Given the description of an element on the screen output the (x, y) to click on. 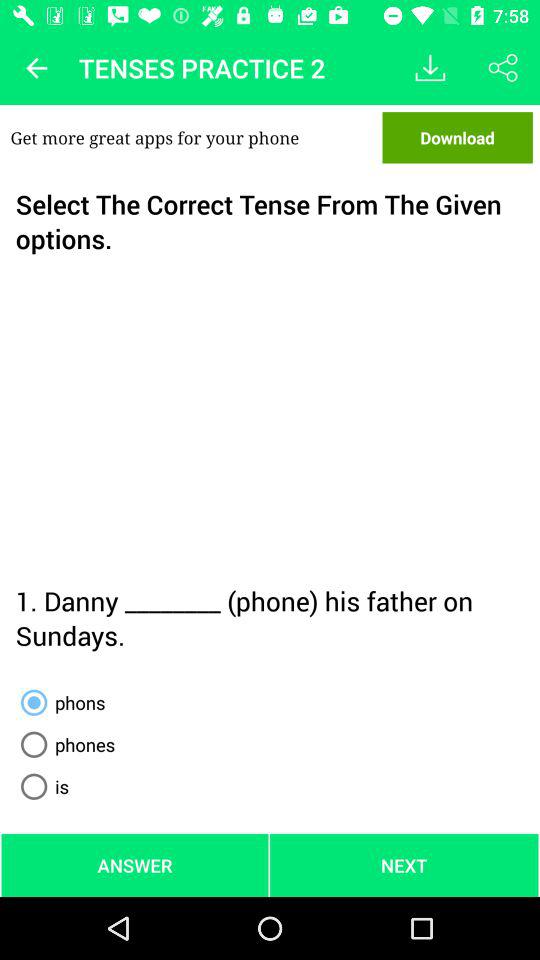
scroll to the phons item (59, 702)
